Given the description of an element on the screen output the (x, y) to click on. 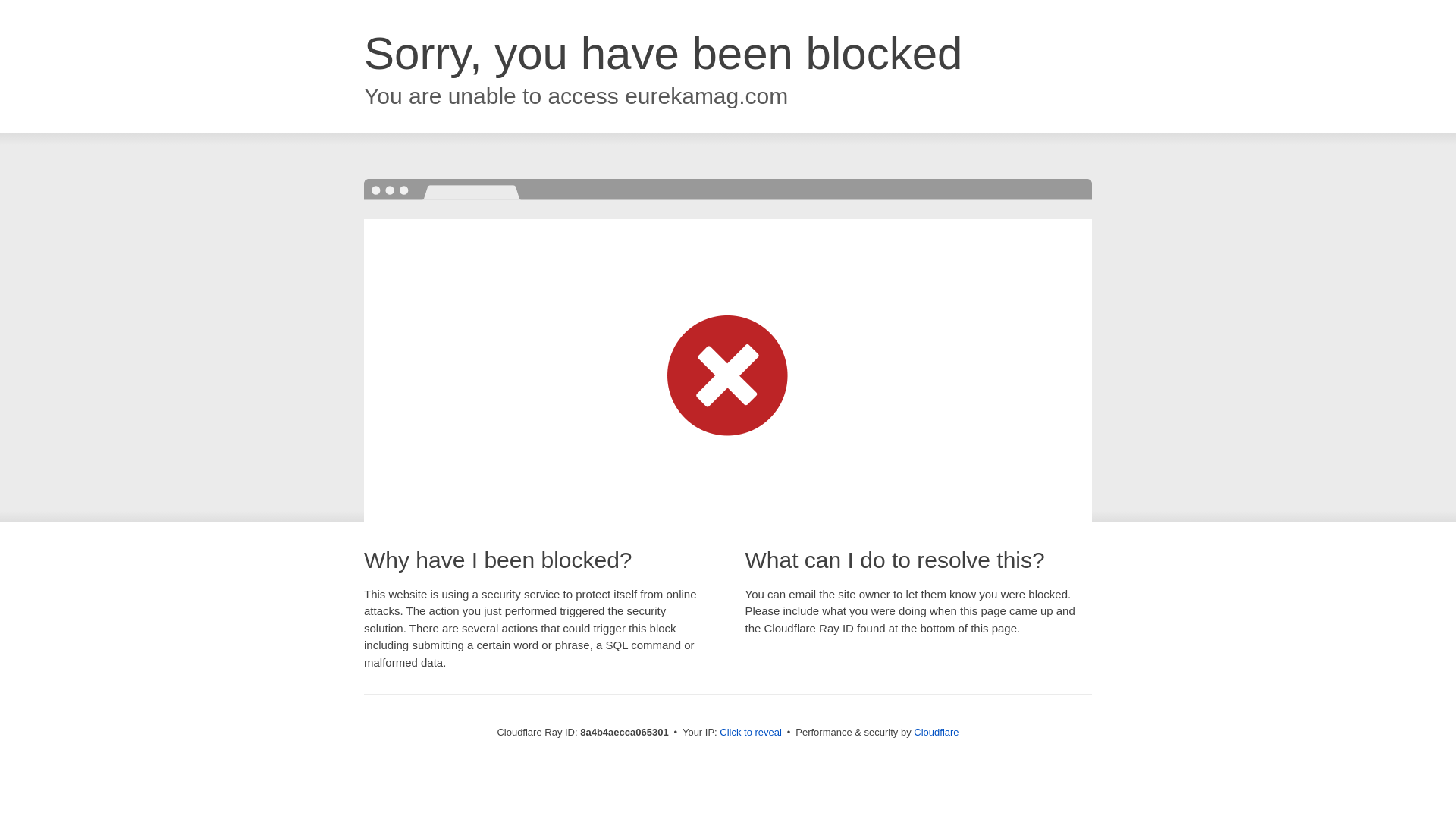
Cloudflare (936, 731)
Click to reveal (750, 732)
